Given the description of an element on the screen output the (x, y) to click on. 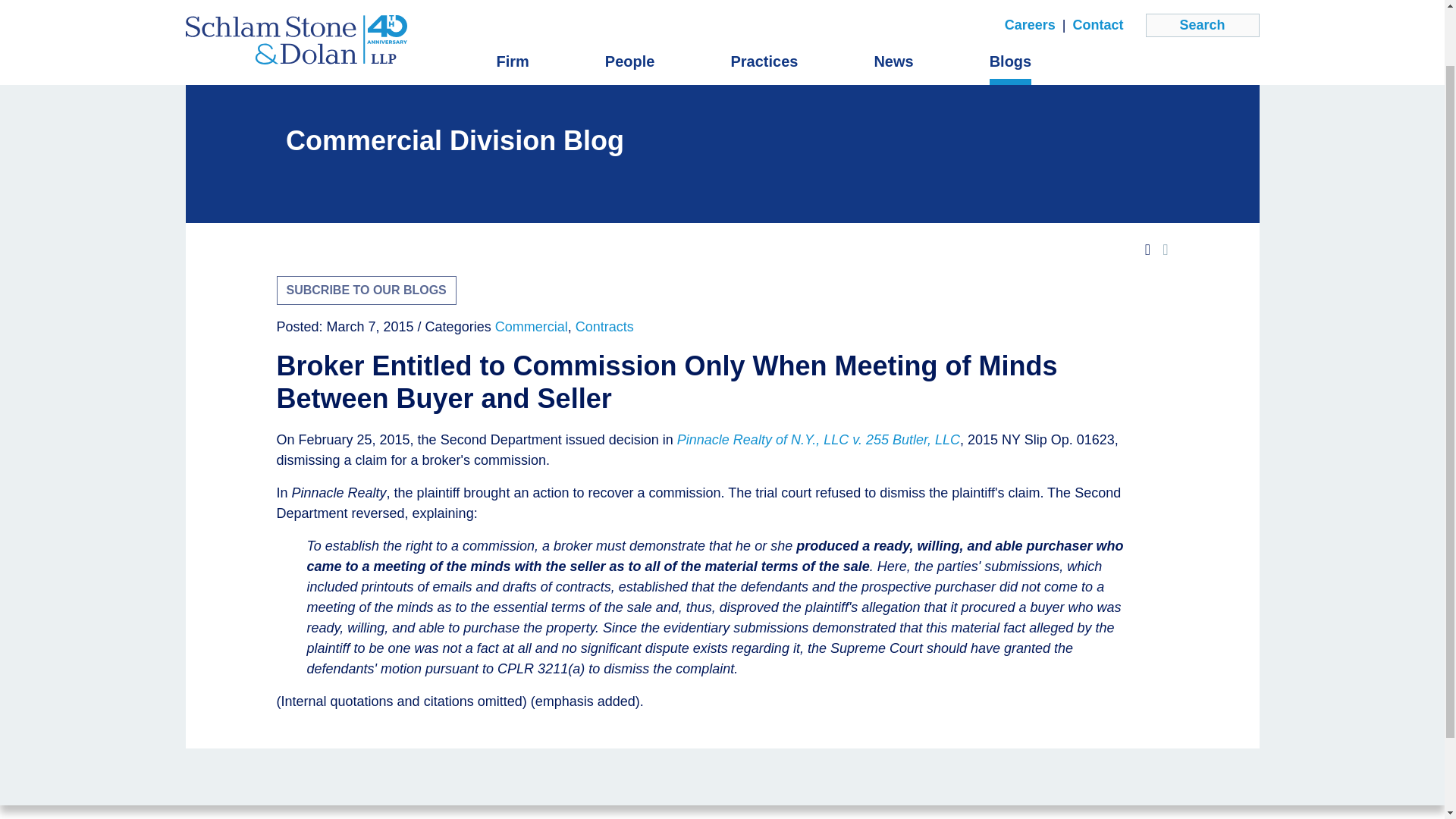
Blogs (1011, 2)
Firm (512, 2)
People (630, 2)
Pinnacle Realty of N.Y., LLC v. 255 Butler, LLC (818, 439)
Contracts (604, 326)
Practices (763, 2)
Commercial (531, 326)
News (892, 2)
SUBCRIBE TO OUR BLOGS (365, 290)
